Given the description of an element on the screen output the (x, y) to click on. 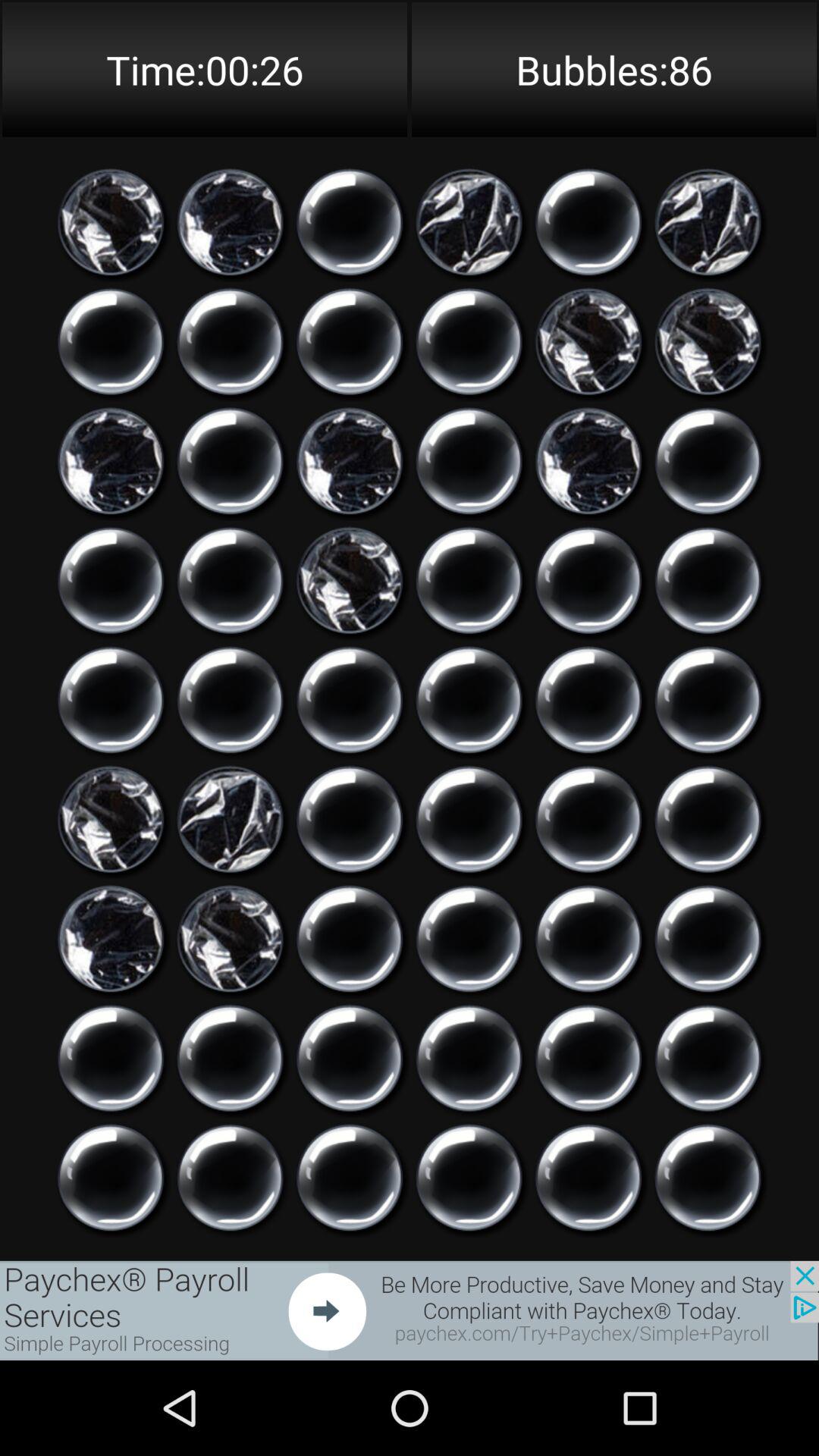
pop a bubble (707, 1177)
